Given the description of an element on the screen output the (x, y) to click on. 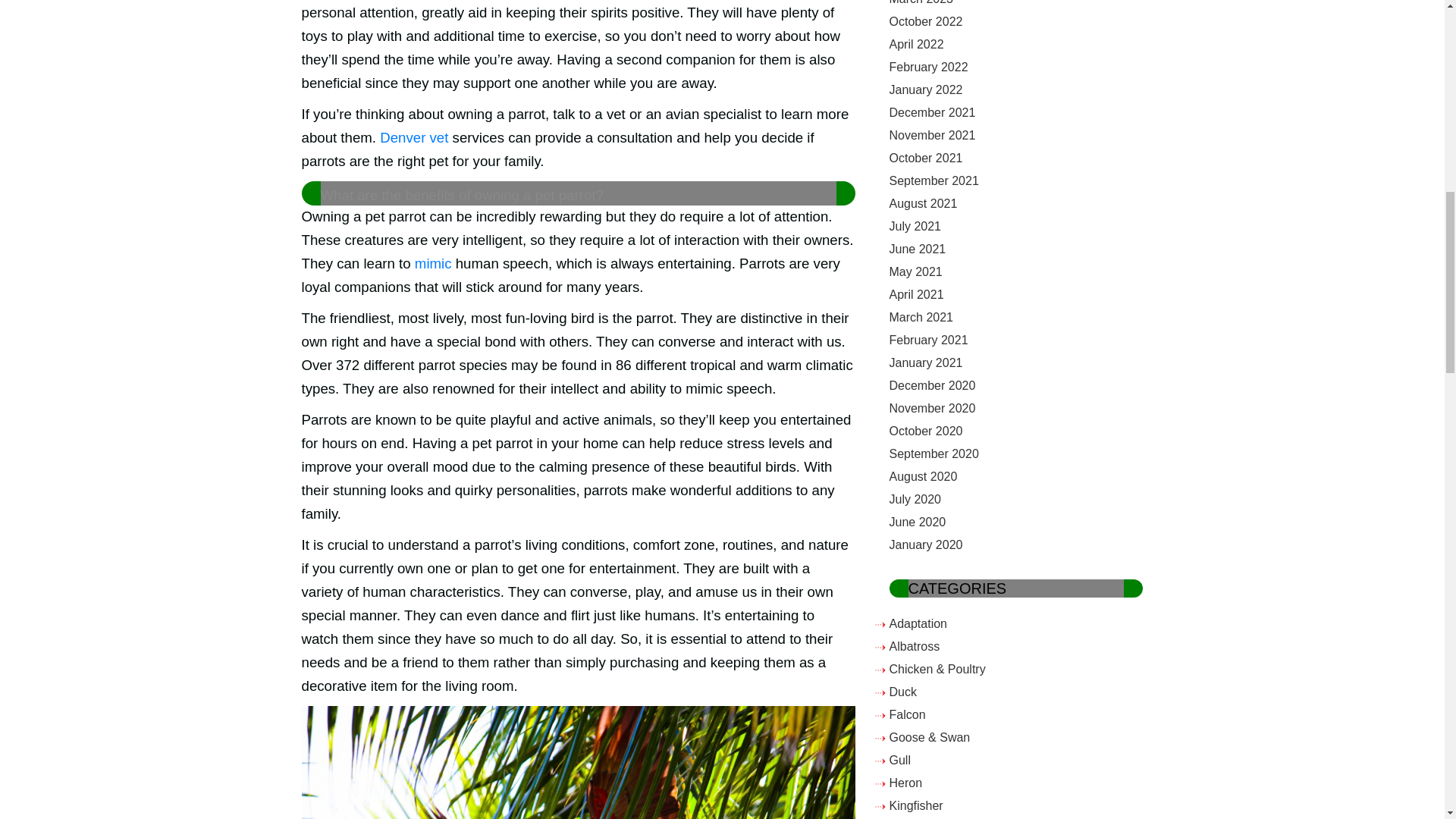
mimic (432, 263)
October 2022 (925, 21)
March 2023 (920, 2)
Denver vet (414, 137)
